Given the description of an element on the screen output the (x, y) to click on. 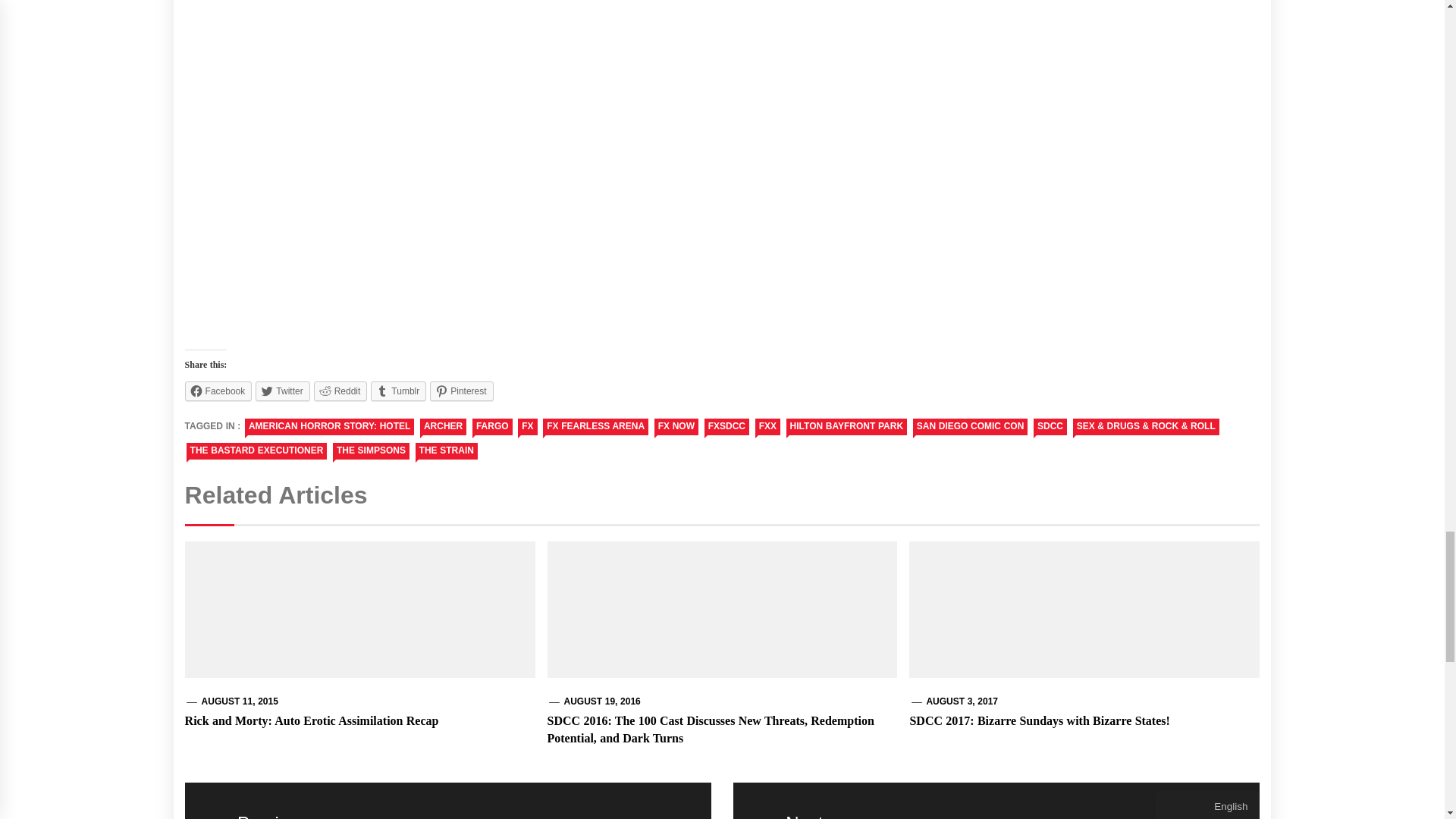
Click to share on Reddit (341, 391)
Facebook (217, 391)
Click to share on Tumblr (398, 391)
Click to share on Twitter (282, 391)
Tumblr (398, 391)
Reddit (341, 391)
Twitter (282, 391)
Click to share on Pinterest (461, 391)
Click to share on Facebook (217, 391)
